Given the description of an element on the screen output the (x, y) to click on. 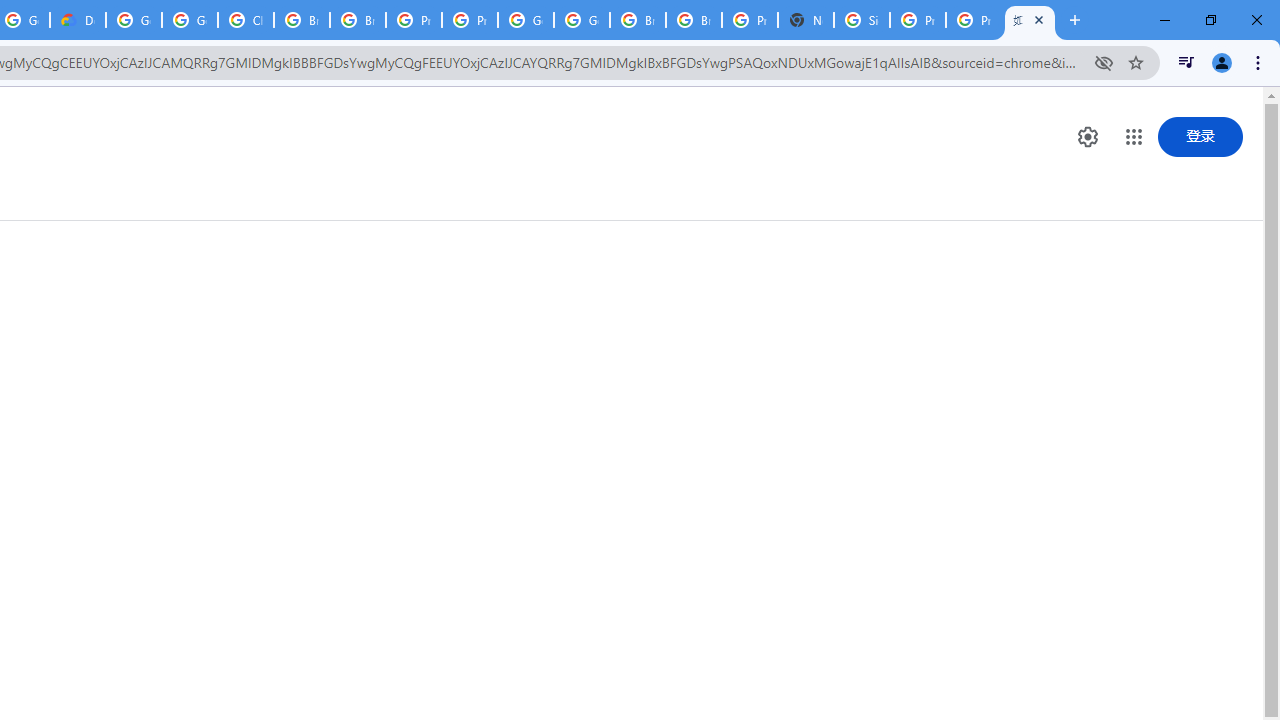
Google Cloud Platform (134, 20)
Google Cloud Platform (525, 20)
